Given the description of an element on the screen output the (x, y) to click on. 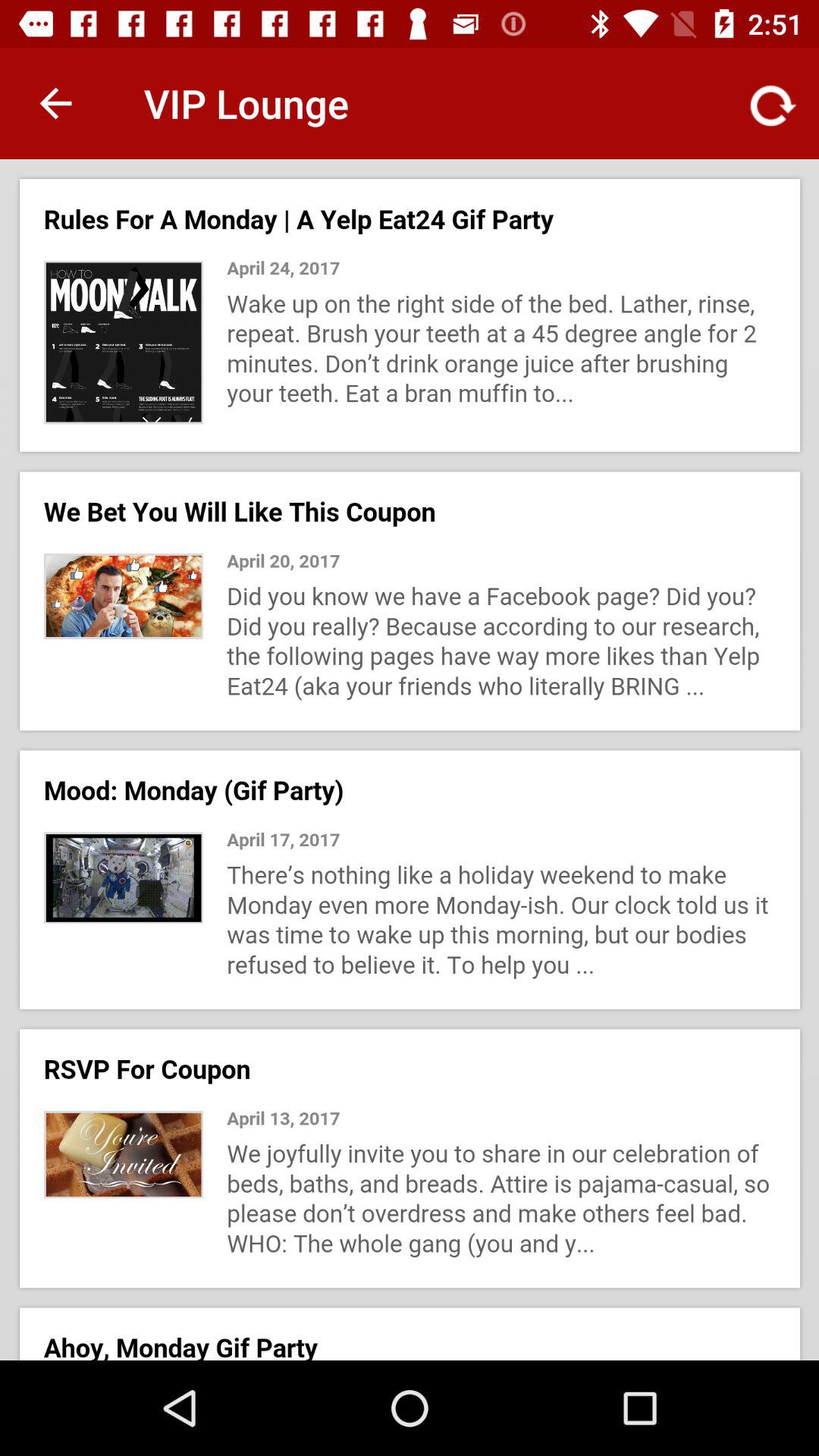
select coupon (409, 759)
